Given the description of an element on the screen output the (x, y) to click on. 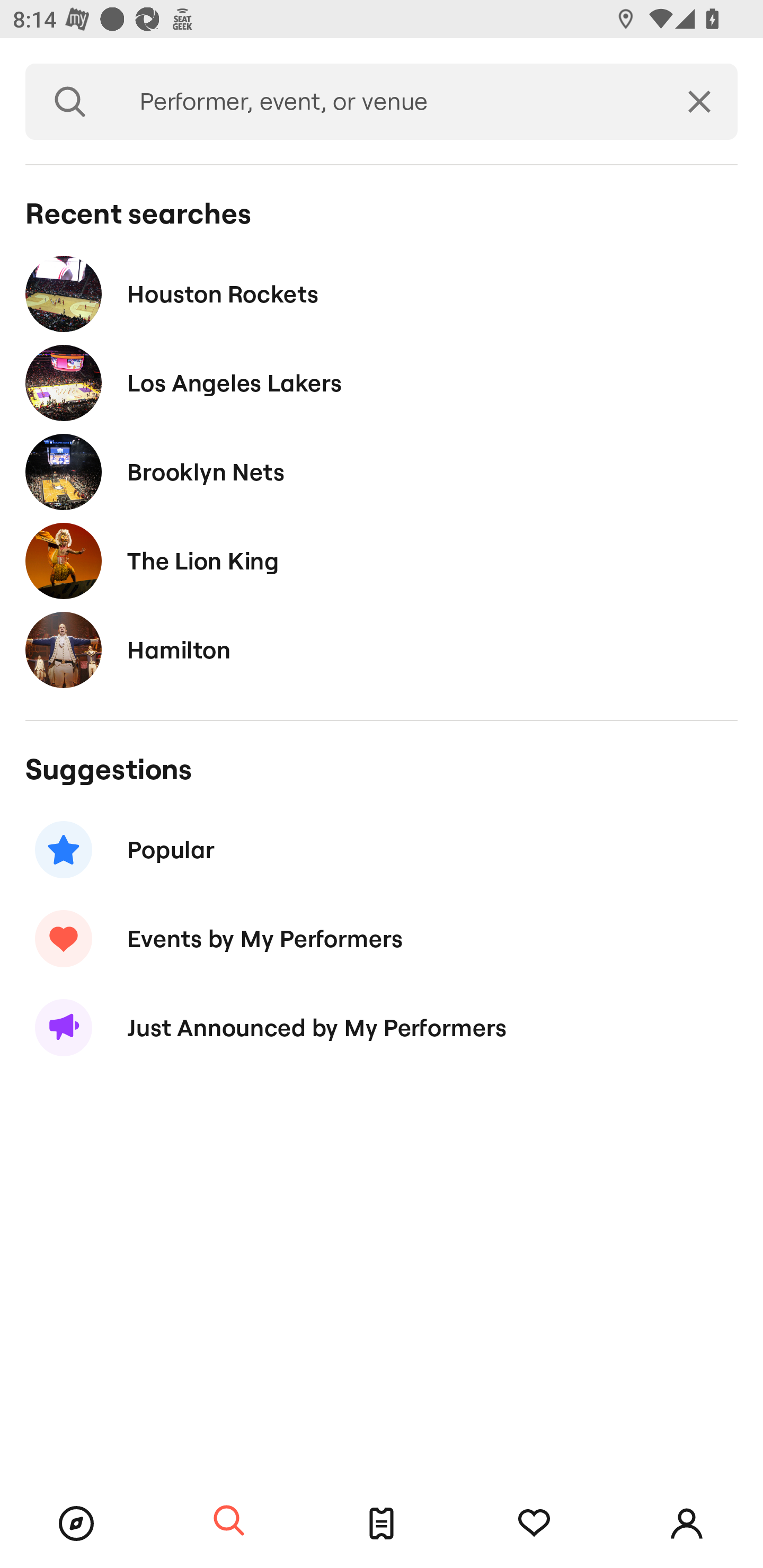
Search (69, 101)
Performer, event, or venue (387, 101)
Clear (699, 101)
Houston Rockets (381, 293)
Los Angeles Lakers (381, 383)
Brooklyn Nets (381, 471)
The Lion King (381, 560)
Hamilton (381, 649)
Popular (381, 849)
Events by My Performers (381, 938)
Just Announced by My Performers (381, 1027)
Browse (76, 1523)
Search (228, 1521)
Tickets (381, 1523)
Tracking (533, 1523)
Account (686, 1523)
